Given the description of an element on the screen output the (x, y) to click on. 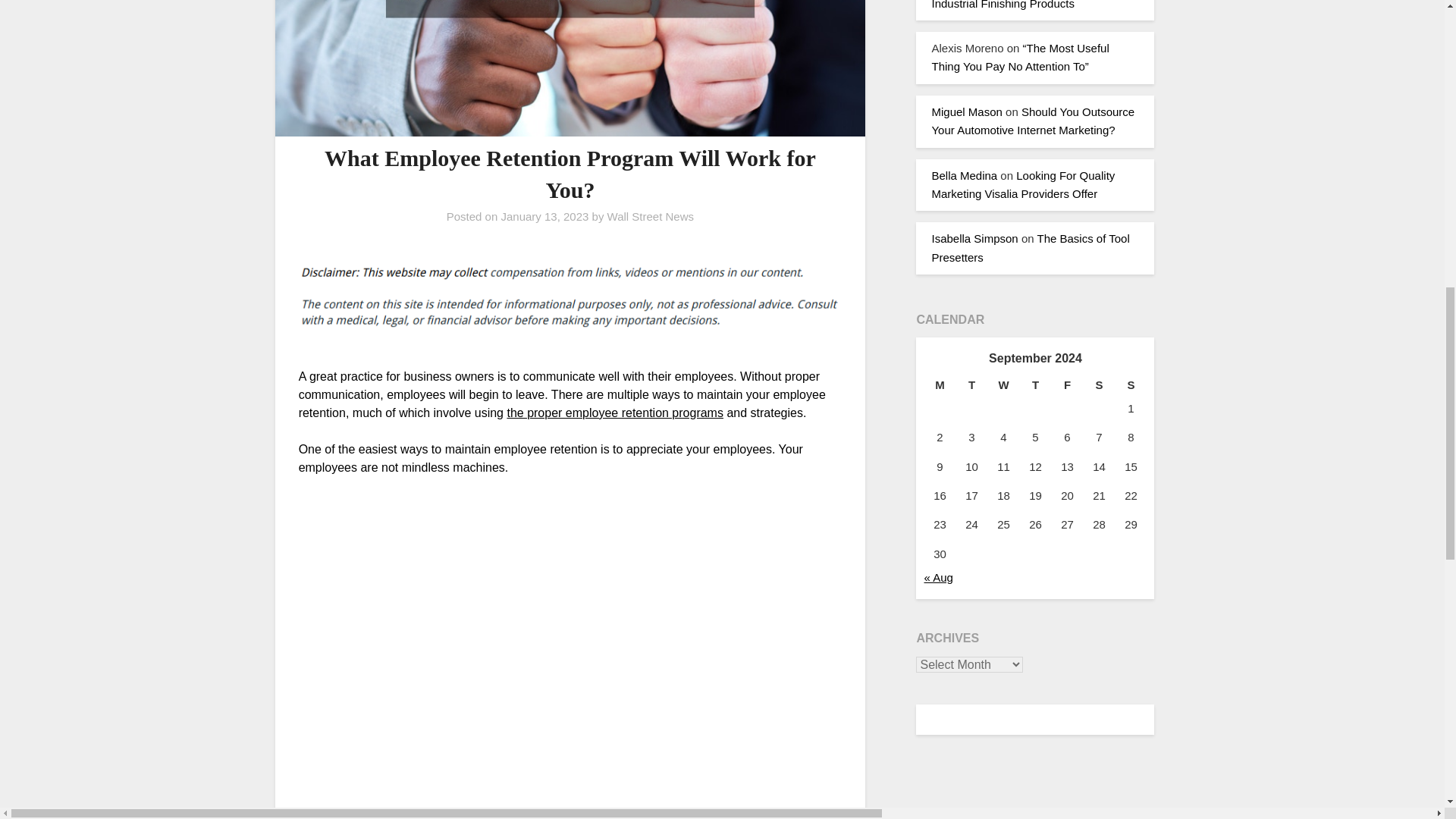
Bella Medina (964, 174)
Wednesday (1003, 384)
Monday (939, 384)
January 13, 2023 (544, 215)
Miguel Mason (966, 111)
Durable and Reliable Industrial Finishing Products (1023, 4)
Should You Outsource Your Automotive Internet Marketing? (1032, 120)
Isabella Simpson (974, 237)
Saturday (1099, 384)
Wall Street News (650, 215)
